Given the description of an element on the screen output the (x, y) to click on. 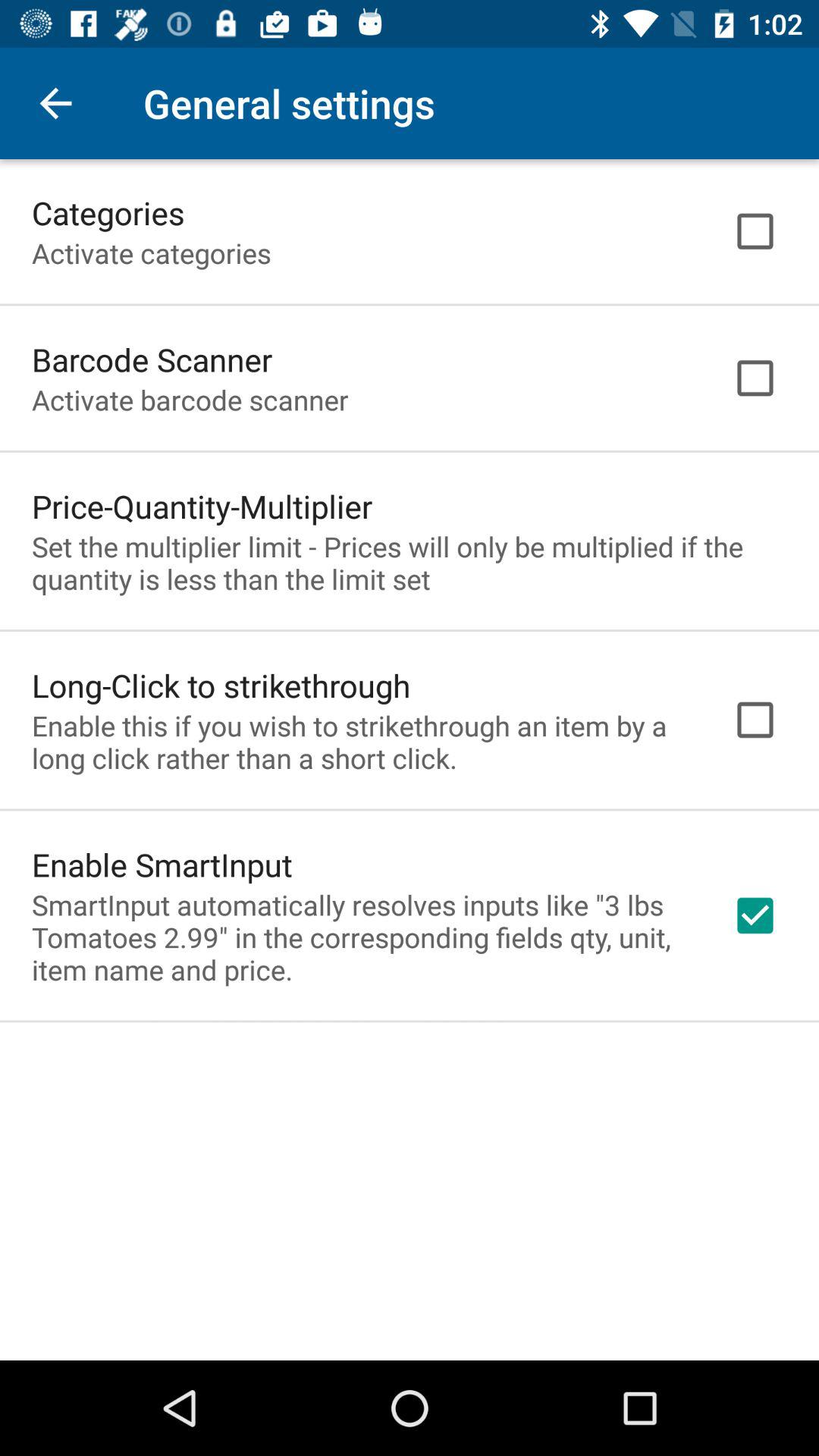
turn off enable this if item (361, 741)
